Given the description of an element on the screen output the (x, y) to click on. 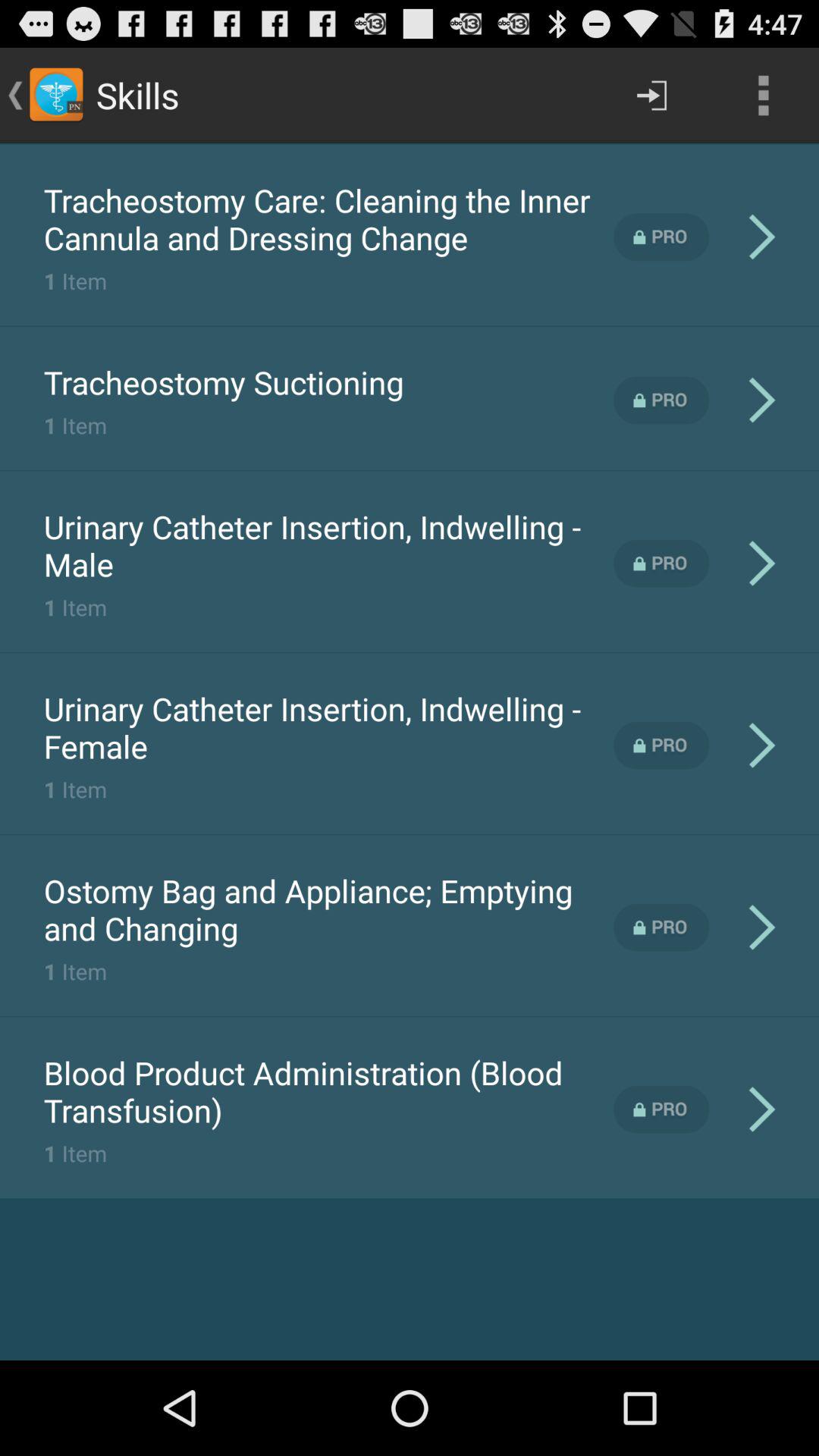
the pro option (661, 1109)
